Given the description of an element on the screen output the (x, y) to click on. 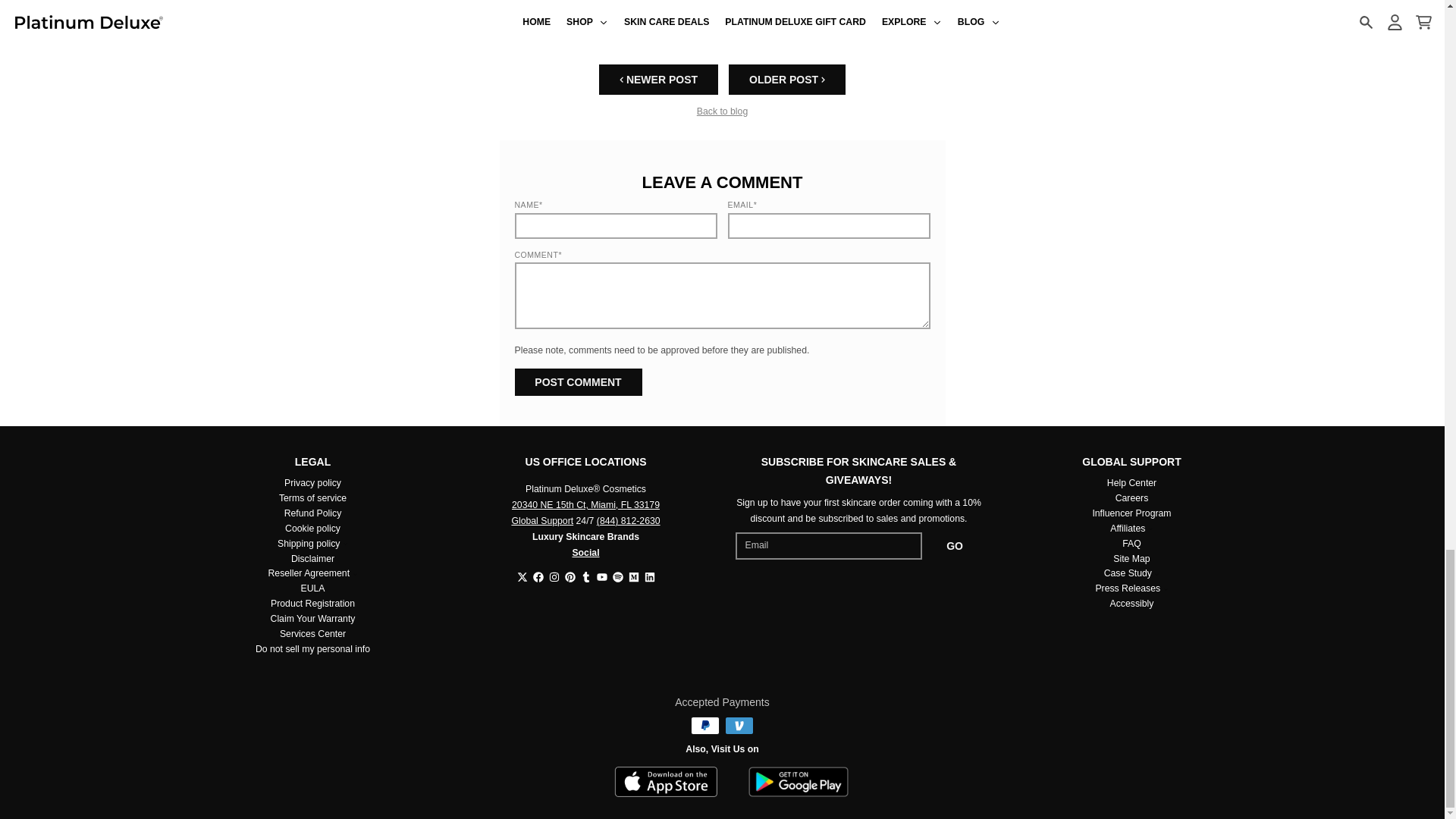
Pinterest - Platinum Deluxe Cosmetics (569, 576)
Spotify - Platinum Deluxe Cosmetics (617, 576)
LinkedIn - Platinum Deluxe Cosmetics (650, 576)
Instagram - Platinum Deluxe Cosmetics (553, 576)
Post comment (577, 381)
Twitter - Platinum Deluxe Cosmetics (521, 576)
Medium - Platinum Deluxe Cosmetics (633, 576)
Facebook - Platinum Deluxe Cosmetics (537, 576)
YouTube - Platinum Deluxe Cosmetics (601, 576)
Tumblr - Platinum Deluxe Cosmetics (585, 576)
